Given the description of an element on the screen output the (x, y) to click on. 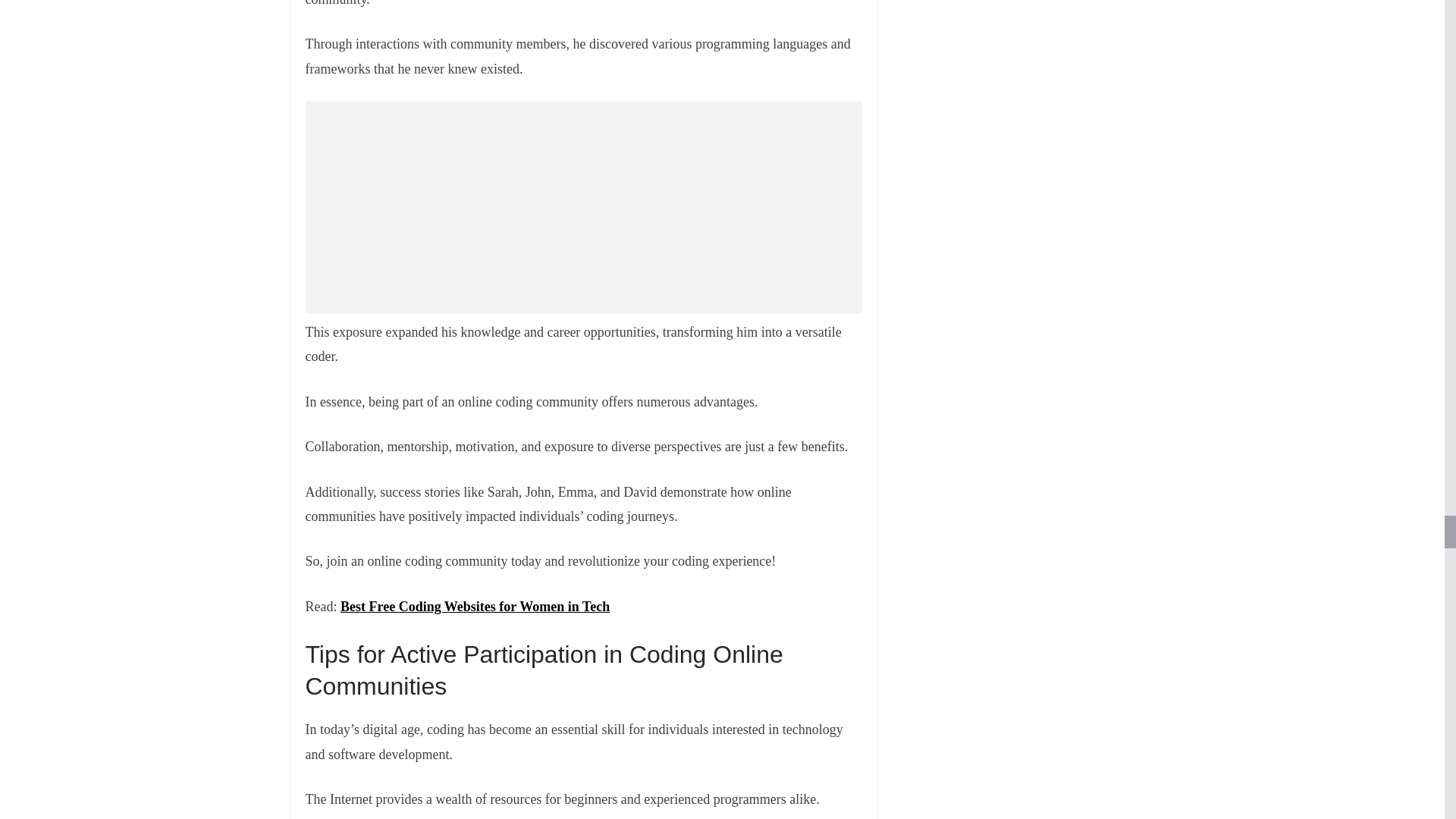
Best Free Coding Websites for Women in Tech (475, 606)
